Given the description of an element on the screen output the (x, y) to click on. 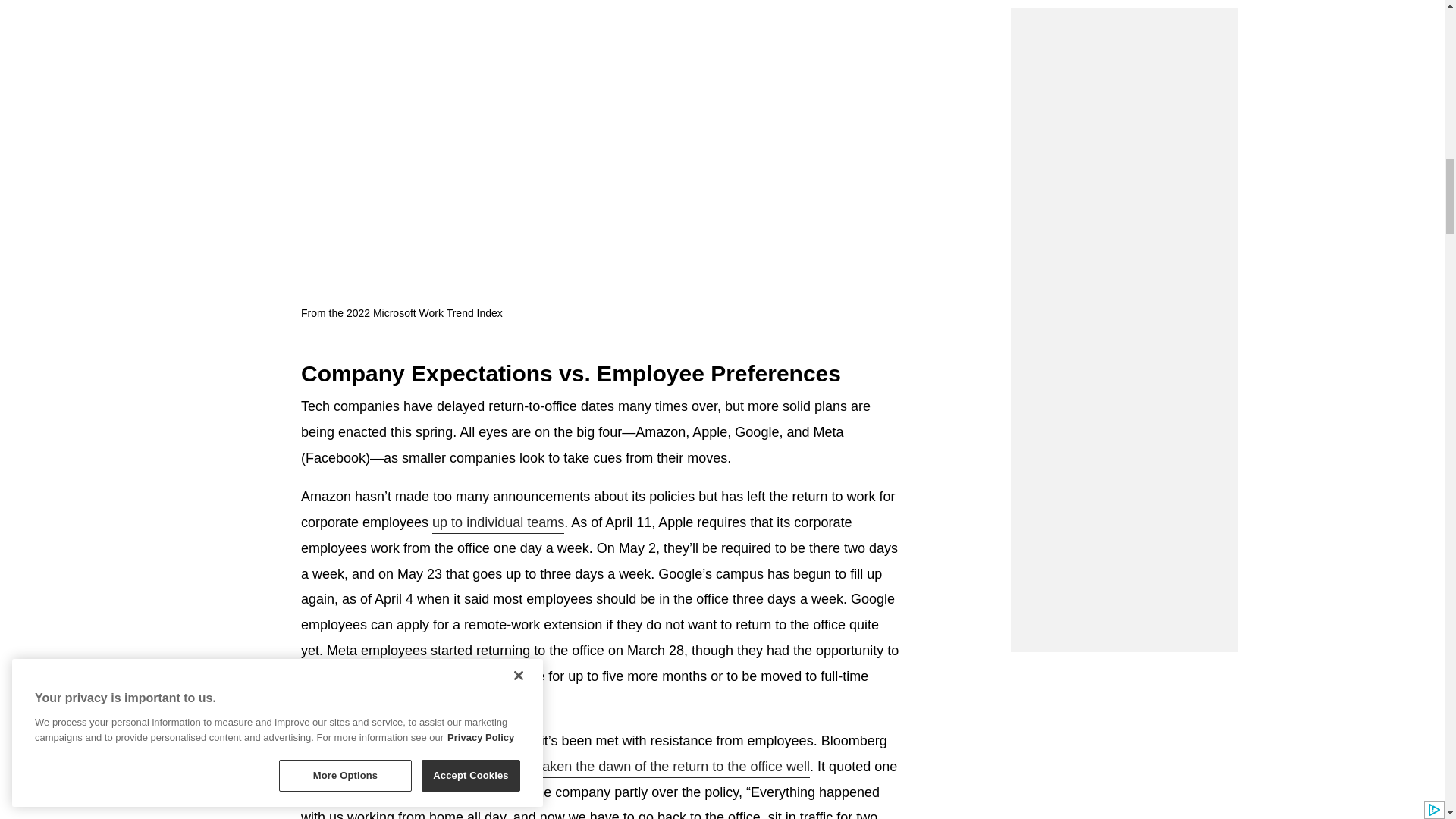
3rd party ad content (1123, 20)
